Given the description of an element on the screen output the (x, y) to click on. 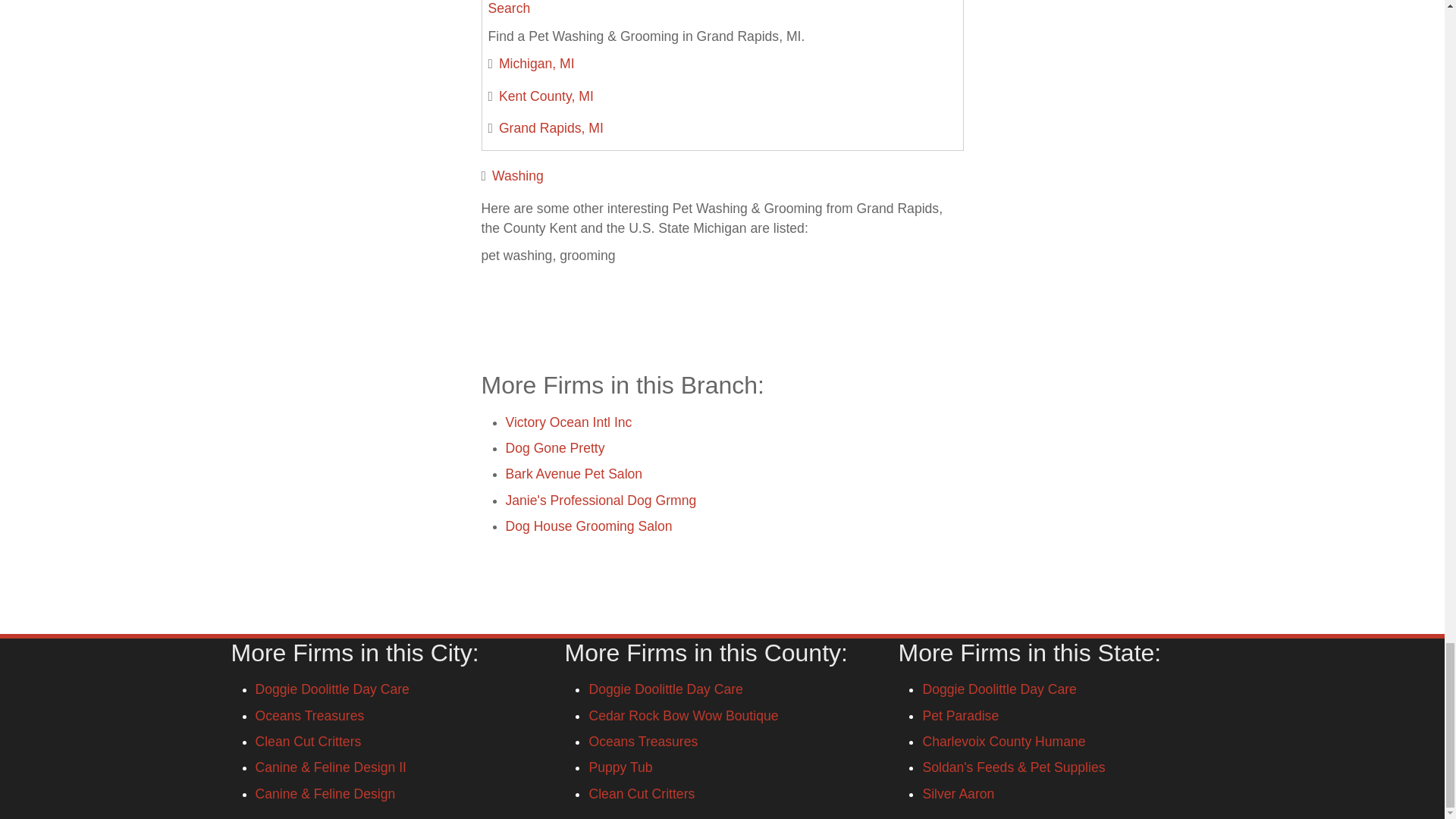
Search (509, 7)
Washing (517, 175)
Bark Avenue Pet Salon (573, 473)
Michigan, MI (537, 63)
Kent County, MI (546, 96)
Dog Gone Pretty (554, 447)
Janie's Professional Dog Grmng (600, 500)
Victory Ocean Intl Inc (568, 421)
Grand Rapids, MI (551, 127)
Dog House Grooming Salon (588, 525)
